Given the description of an element on the screen output the (x, y) to click on. 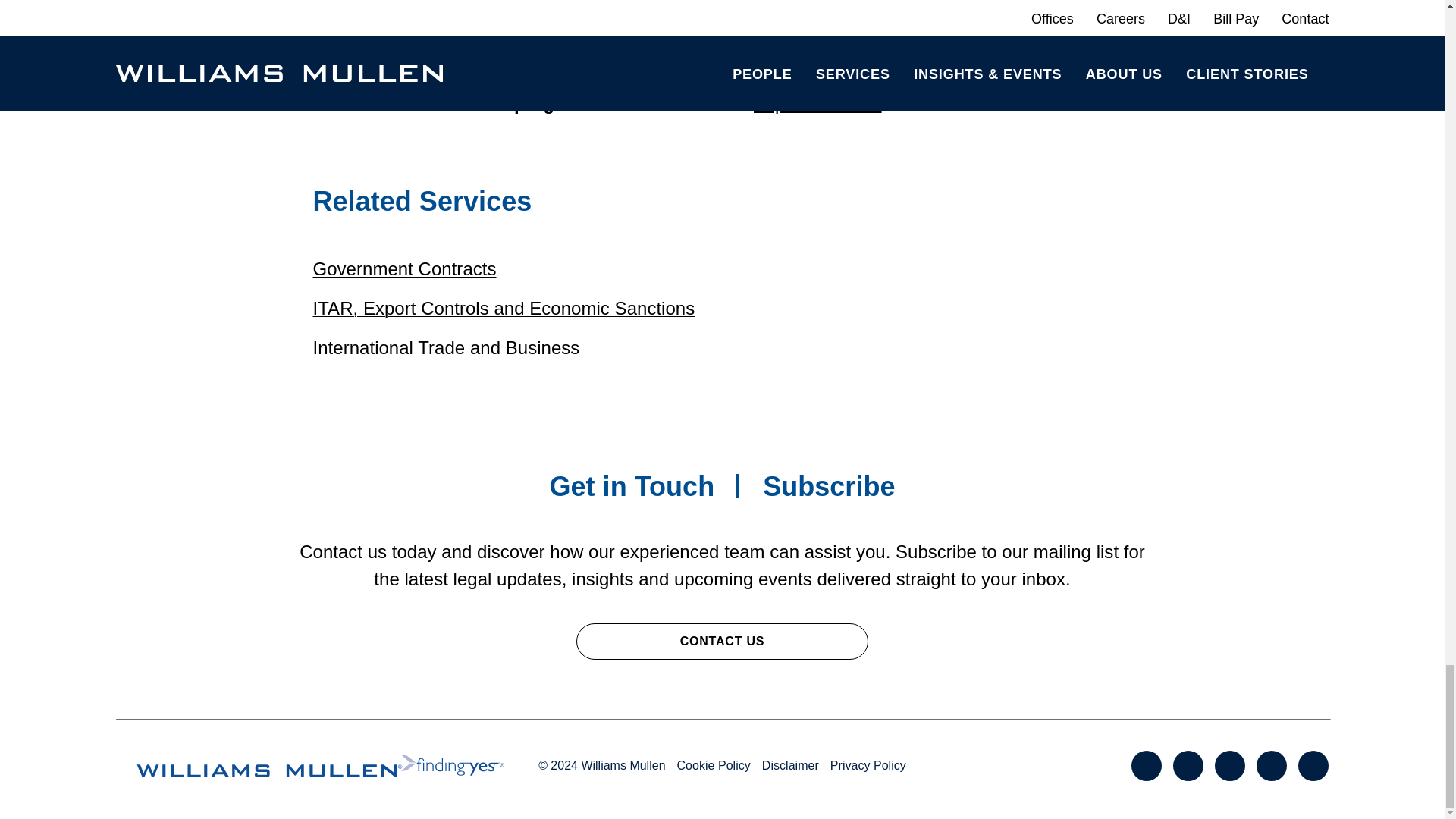
ITAR, Export Controls and Economic Sanctions (503, 308)
Get in Touch (631, 486)
Thomas McVey (375, 76)
International Trade and Business (446, 347)
Government Contracts (404, 268)
Subscribe (828, 486)
CONTACT US (721, 641)
